Given the description of an element on the screen output the (x, y) to click on. 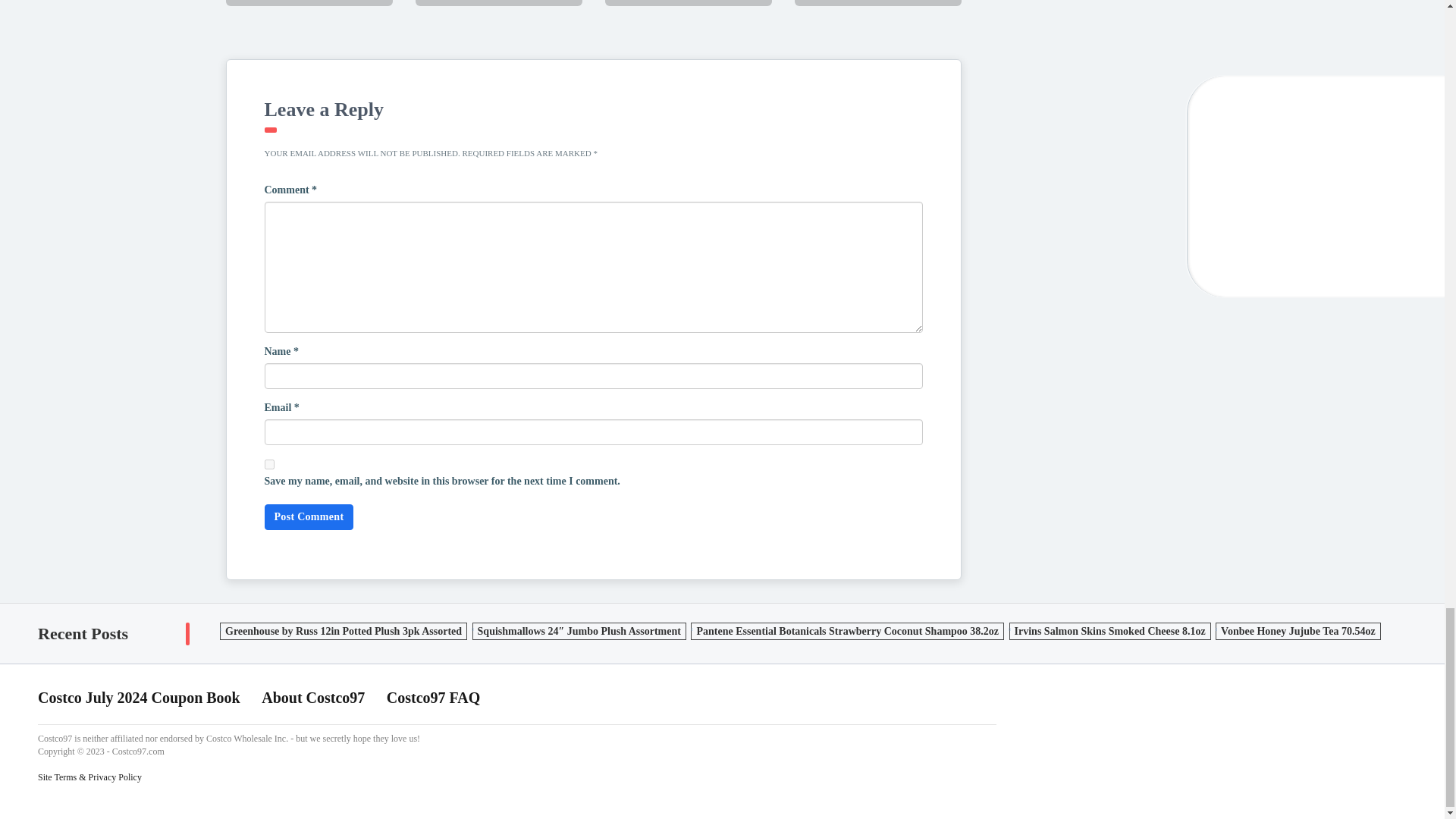
Post Comment (308, 516)
yes (268, 464)
